Given the description of an element on the screen output the (x, y) to click on. 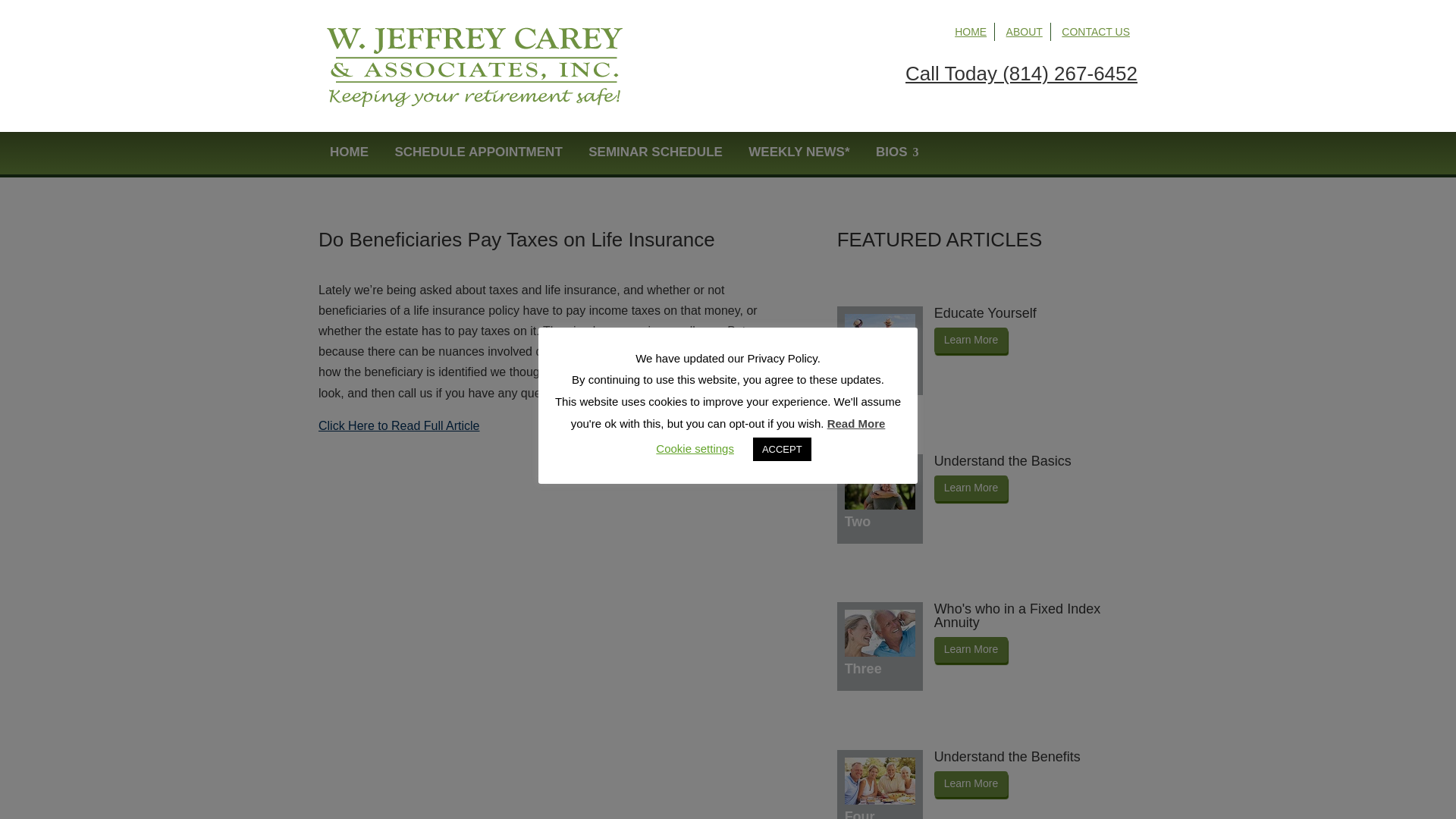
Learn More (971, 488)
Cookie settings (694, 448)
Learn More (971, 783)
Learn More (971, 339)
HOME (970, 31)
BIOS (891, 151)
Learn More (971, 649)
Click Here to Read Full Article (399, 425)
SCHEDULE APPOINTMENT (477, 151)
ACCEPT (781, 449)
Read More (856, 423)
SEMINAR SCHEDULE (654, 151)
ABOUT (1023, 31)
HOME (349, 151)
CONTACT US (1095, 31)
